Given the description of an element on the screen output the (x, y) to click on. 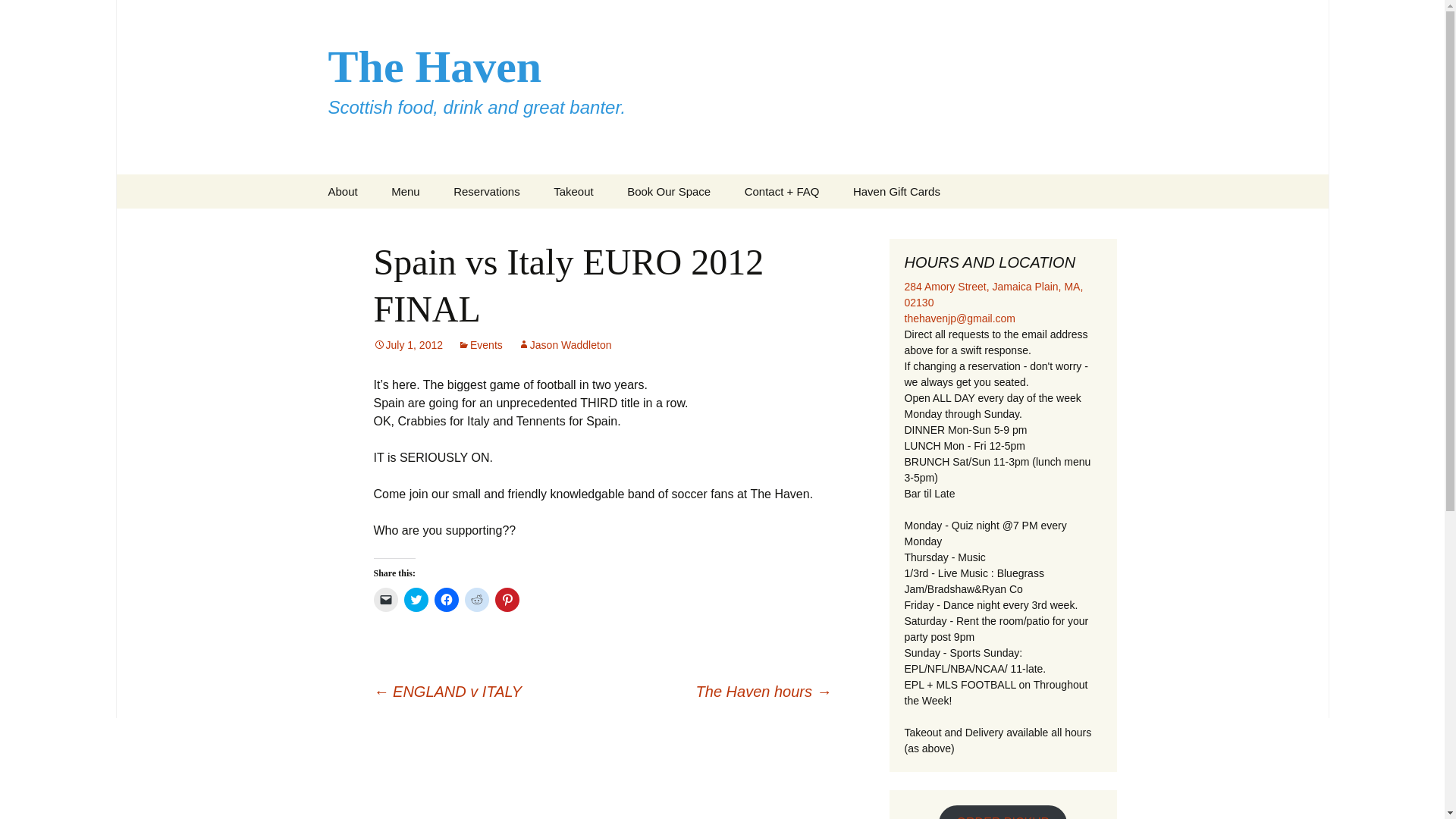
ORDER PICKUP (1003, 812)
284 Amory Street, Jamaica Plain, MA, 02130 (993, 294)
View all posts by Jason Waddleton (564, 345)
Permalink to Spain vs Italy EURO 2012 FINAL (407, 345)
Search (18, 15)
Reservations (486, 191)
Click to email a link to a friend (384, 599)
Click to share on Reddit (475, 599)
Click to share on Twitter (415, 599)
